Given the description of an element on the screen output the (x, y) to click on. 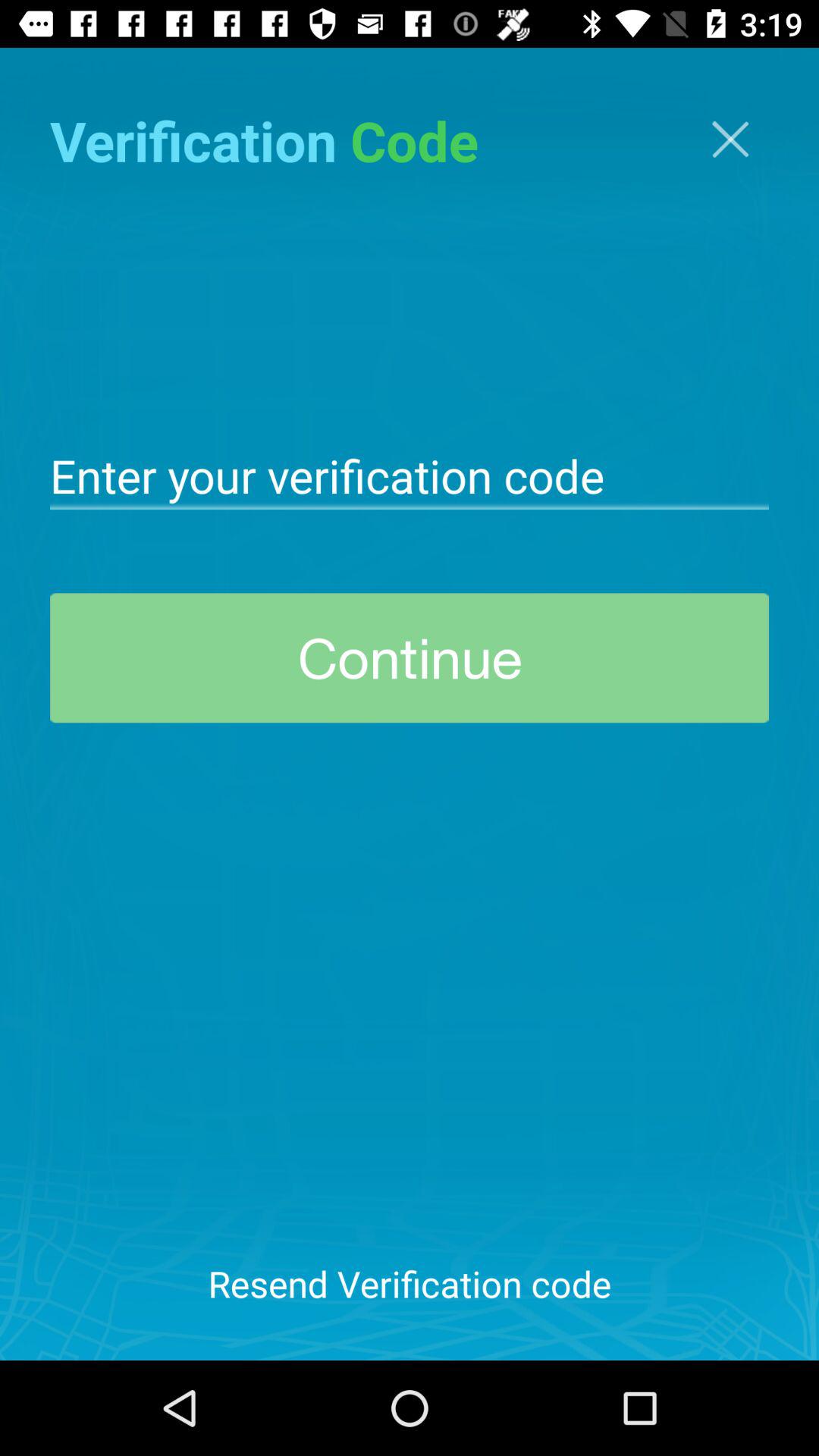
type down verification code (409, 474)
